Given the description of an element on the screen output the (x, y) to click on. 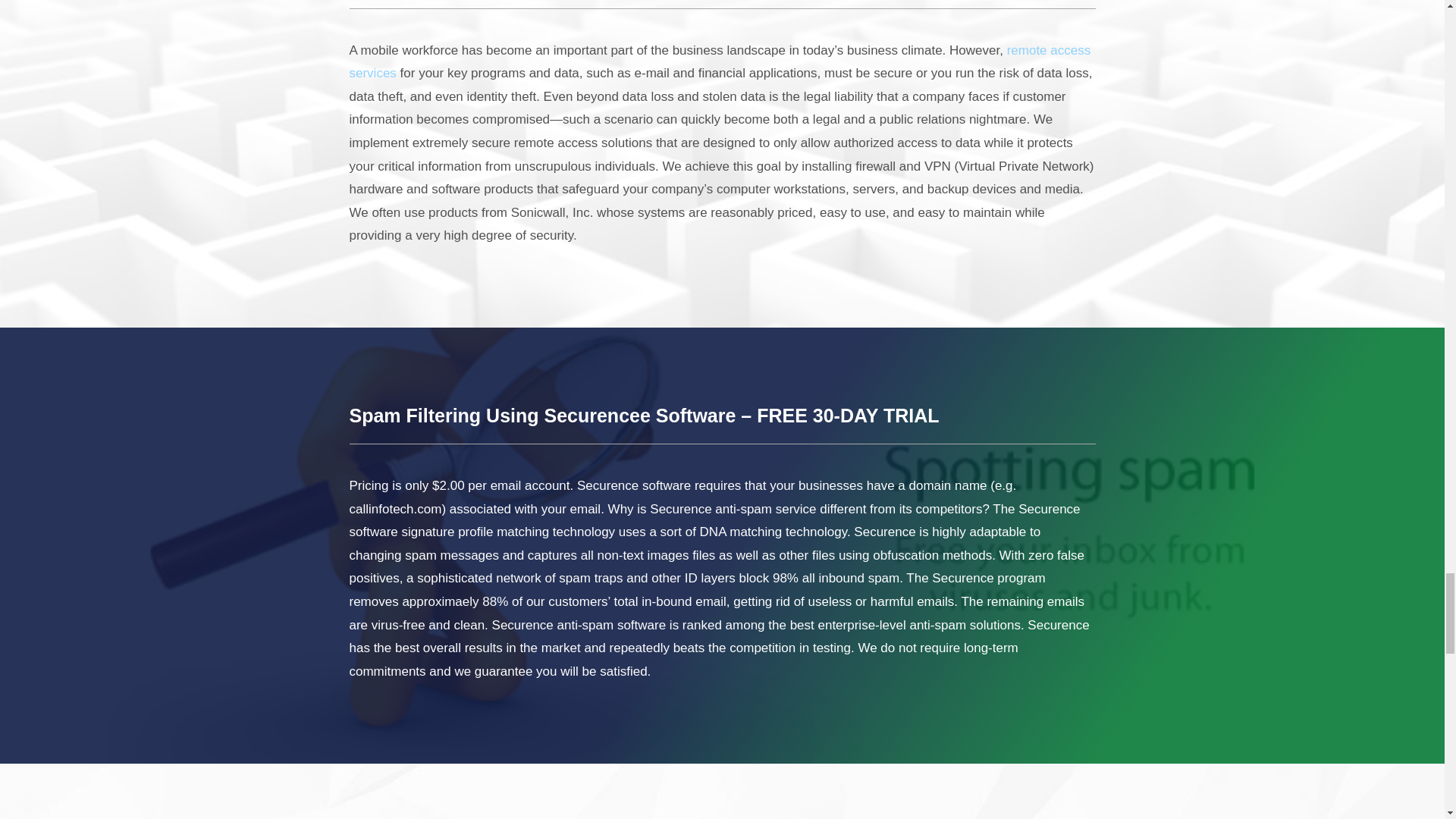
remote access services (719, 62)
